Given the description of an element on the screen output the (x, y) to click on. 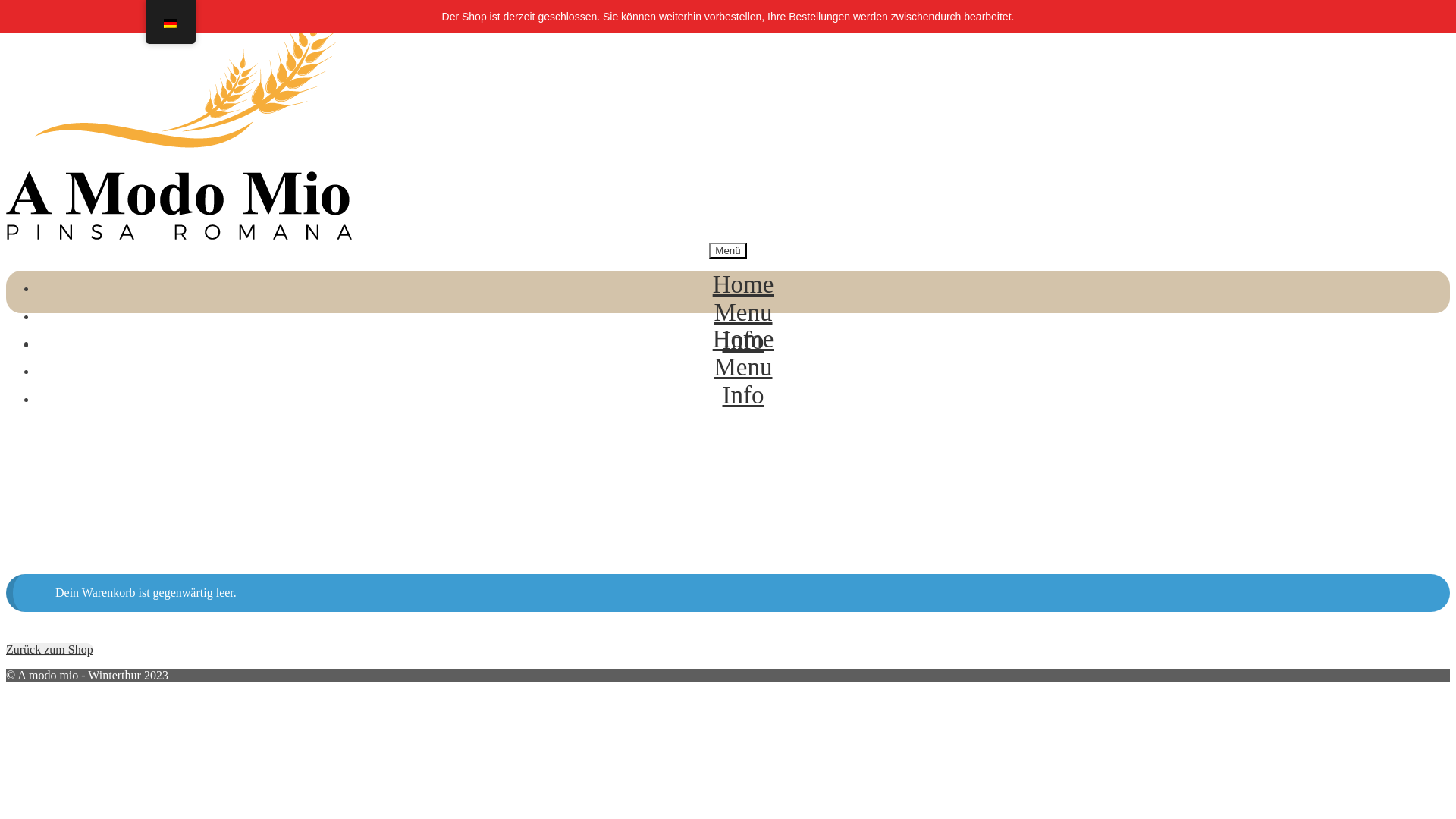
German Element type: hover (170, 23)
Menu Element type: text (743, 366)
Home Element type: text (743, 338)
Zur Navigation springen Element type: text (5, 5)
Info Element type: text (742, 340)
Info Element type: text (742, 394)
Menu Element type: text (743, 312)
Home Element type: text (743, 284)
